Given the description of an element on the screen output the (x, y) to click on. 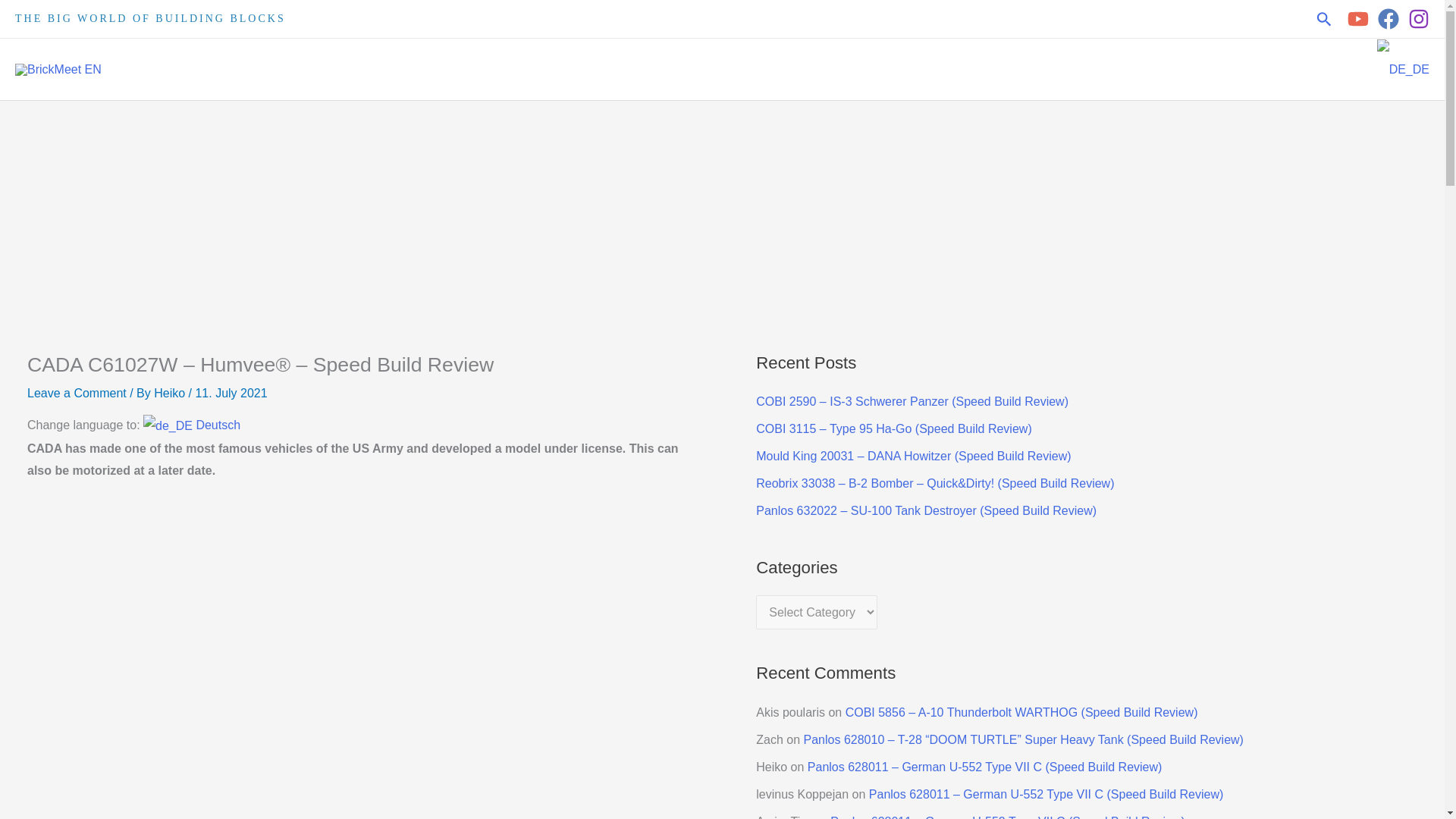
Deutsch (1403, 68)
Deutsch (191, 424)
Heiko (170, 392)
Leave a Comment (76, 392)
PRIVACY POLICY (1182, 68)
Deutsch (191, 424)
MILITARY BRICK SET REVIEWS (866, 68)
View all posts by Heiko (170, 392)
LEGAL NOTICE (1313, 68)
